Given the description of an element on the screen output the (x, y) to click on. 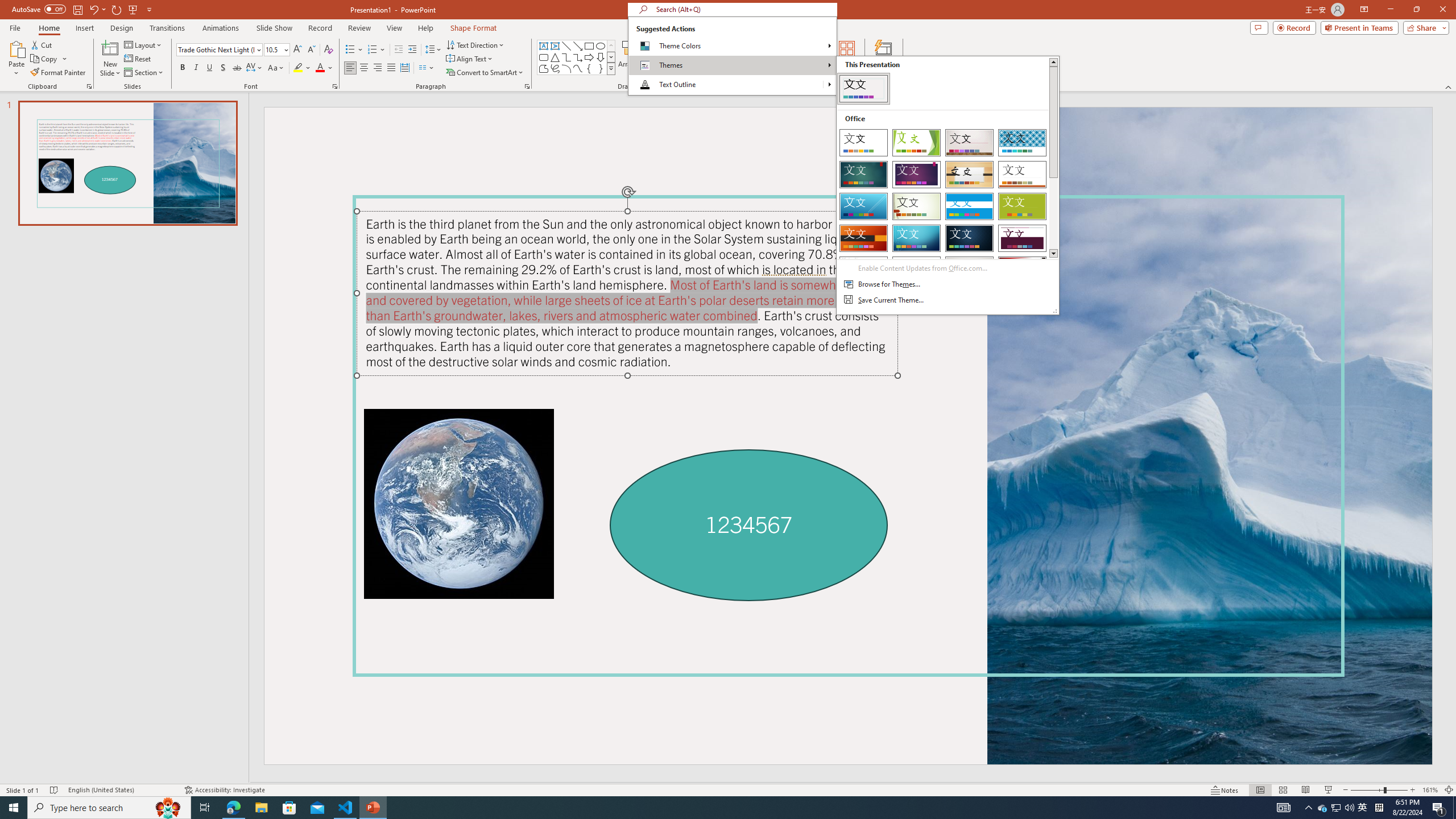
Action Center, 1 new notification (1439, 807)
Shape Effects (700, 69)
Text Direction (476, 44)
Select (762, 69)
Arrange (630, 58)
Shape Outline Teal, Accent 1 (675, 56)
